Given the description of an element on the screen output the (x, y) to click on. 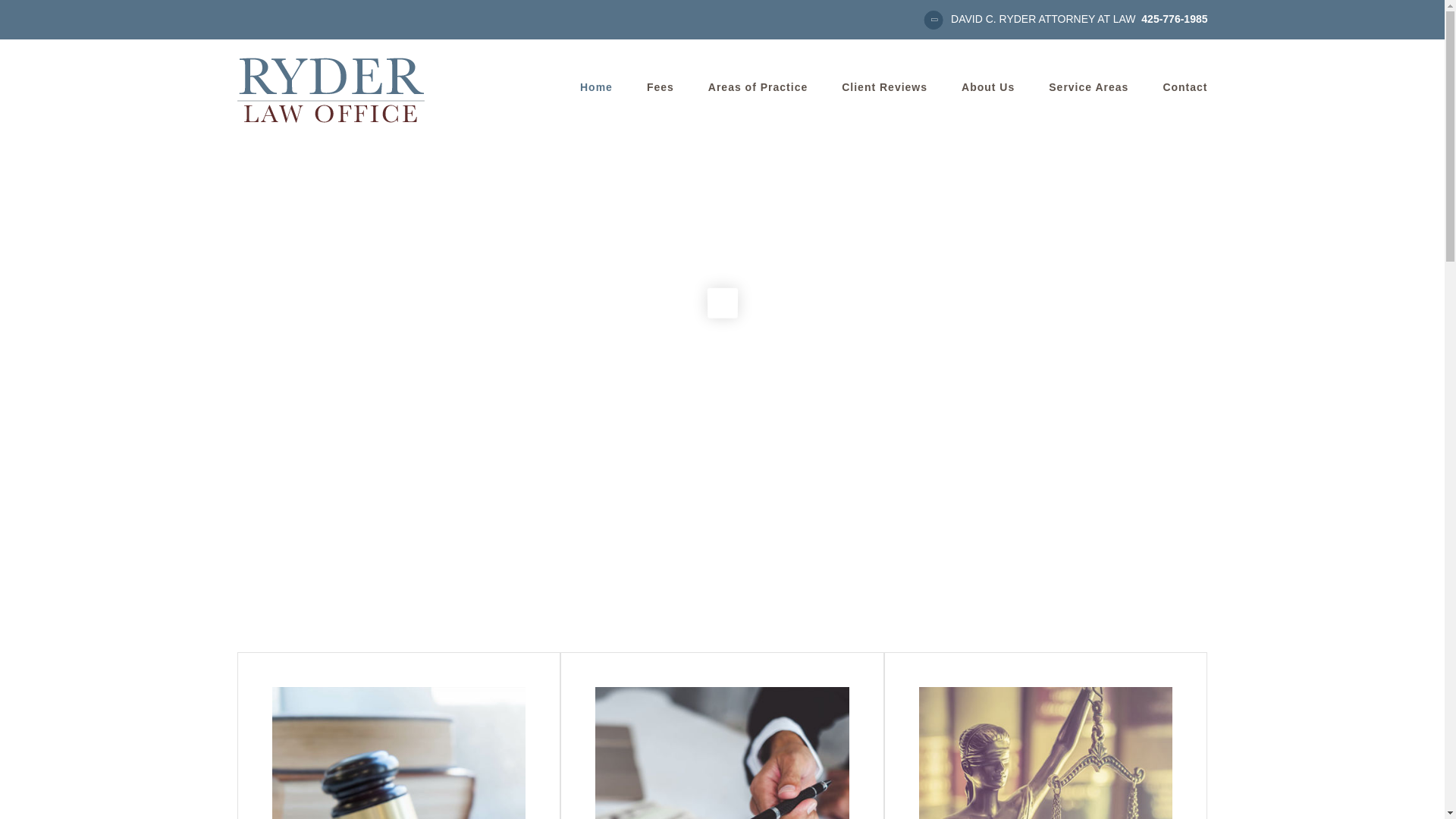
callout-3 (1045, 693)
callout-1 (397, 693)
Client Reviews (884, 87)
callout-2 (721, 693)
Areas of Practice (757, 87)
